Given the description of an element on the screen output the (x, y) to click on. 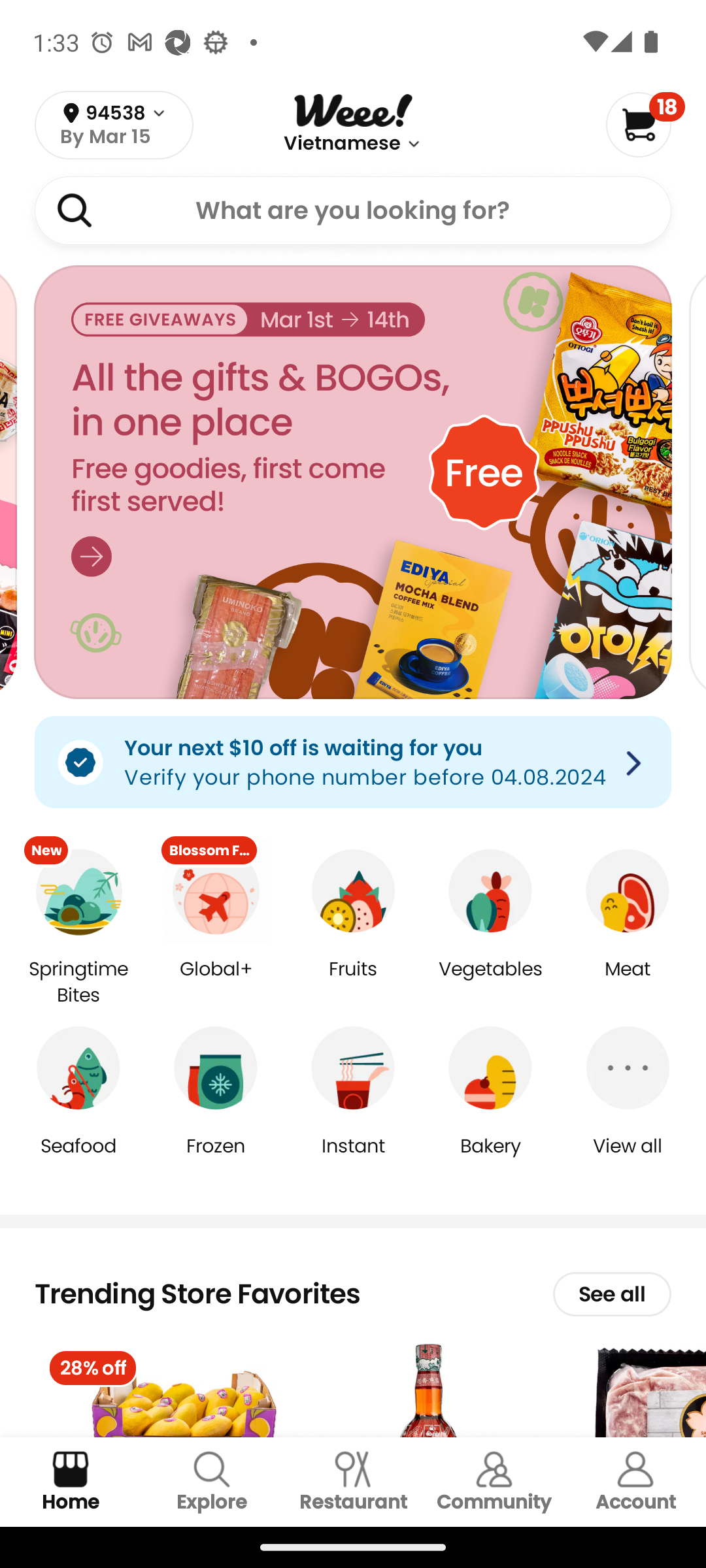
94538 By Mar 15 (113, 124)
18 (644, 124)
Vietnamese (342, 143)
What are you looking for? (352, 209)
Springtime Bites (77, 982)
Global+ (215, 982)
Fruits (352, 982)
Vegetables (490, 982)
Meat (627, 982)
Seafood (77, 1159)
Frozen (215, 1159)
Instant (352, 1159)
Bakery (490, 1159)
View all (627, 1159)
Home (70, 1482)
Explore (211, 1482)
Restaurant (352, 1482)
Community (493, 1482)
Account (635, 1482)
